Given the description of an element on the screen output the (x, y) to click on. 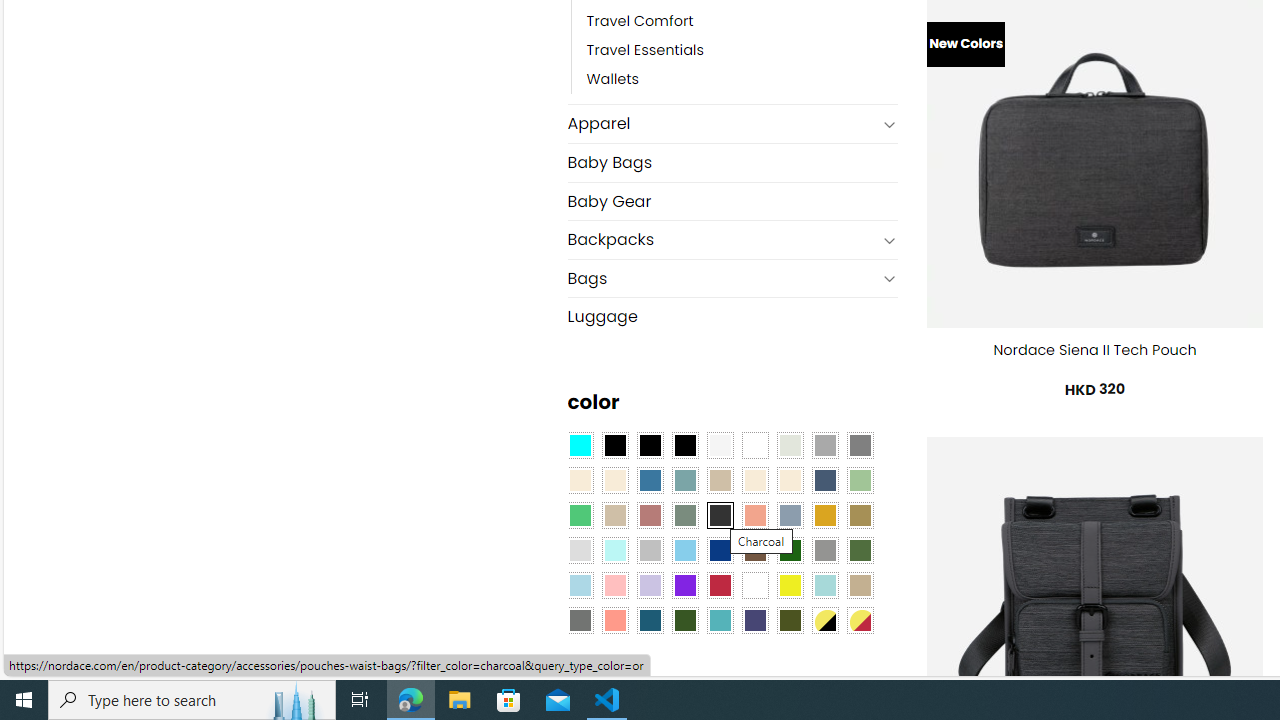
Gold (824, 514)
Army Green (789, 619)
Nordace Siena II Tech Pouch (1094, 350)
Light Gray (579, 550)
Brown (755, 550)
Rose (650, 514)
Beige (579, 480)
Dark Green (789, 550)
All Black (614, 444)
Baby Bags (732, 162)
Aqua (824, 584)
All Gray (859, 444)
Yellow-Black (824, 619)
